Given the description of an element on the screen output the (x, y) to click on. 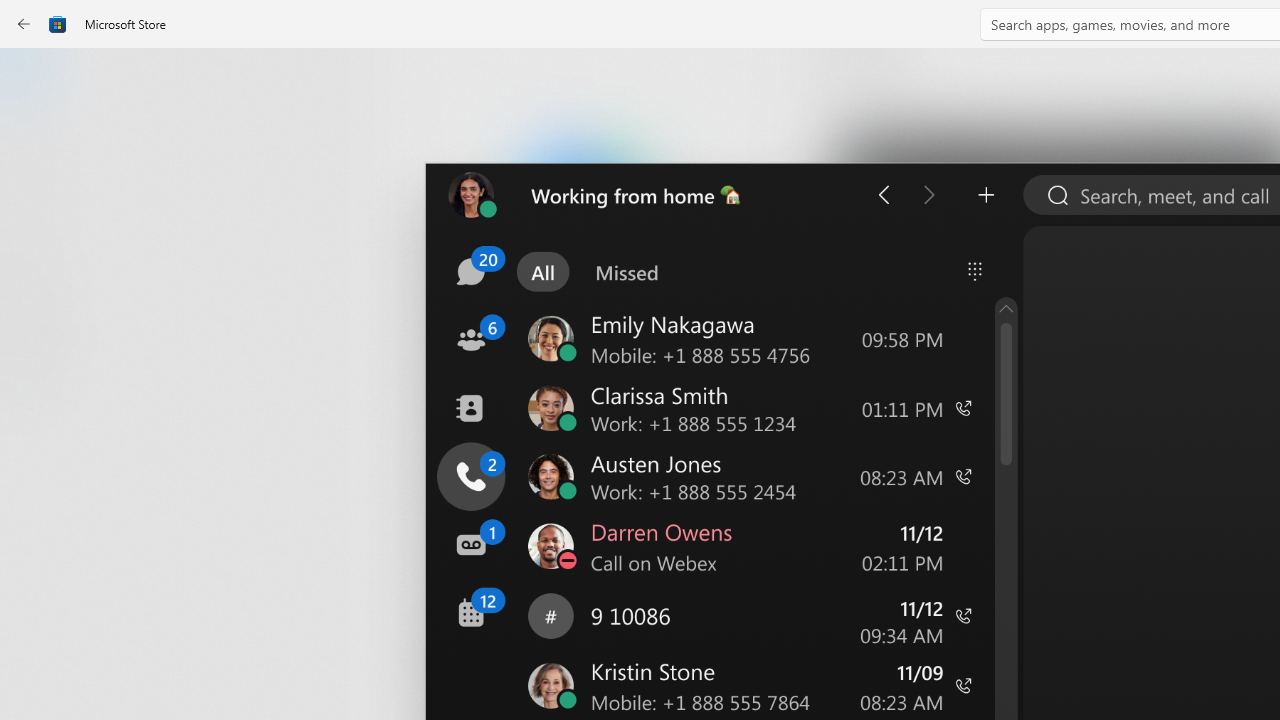
Install (586, 428)
3.4 stars. Click to skip to ratings and reviews (542, 543)
Cisco Systems. (674, 333)
Back (24, 24)
